Given the description of an element on the screen output the (x, y) to click on. 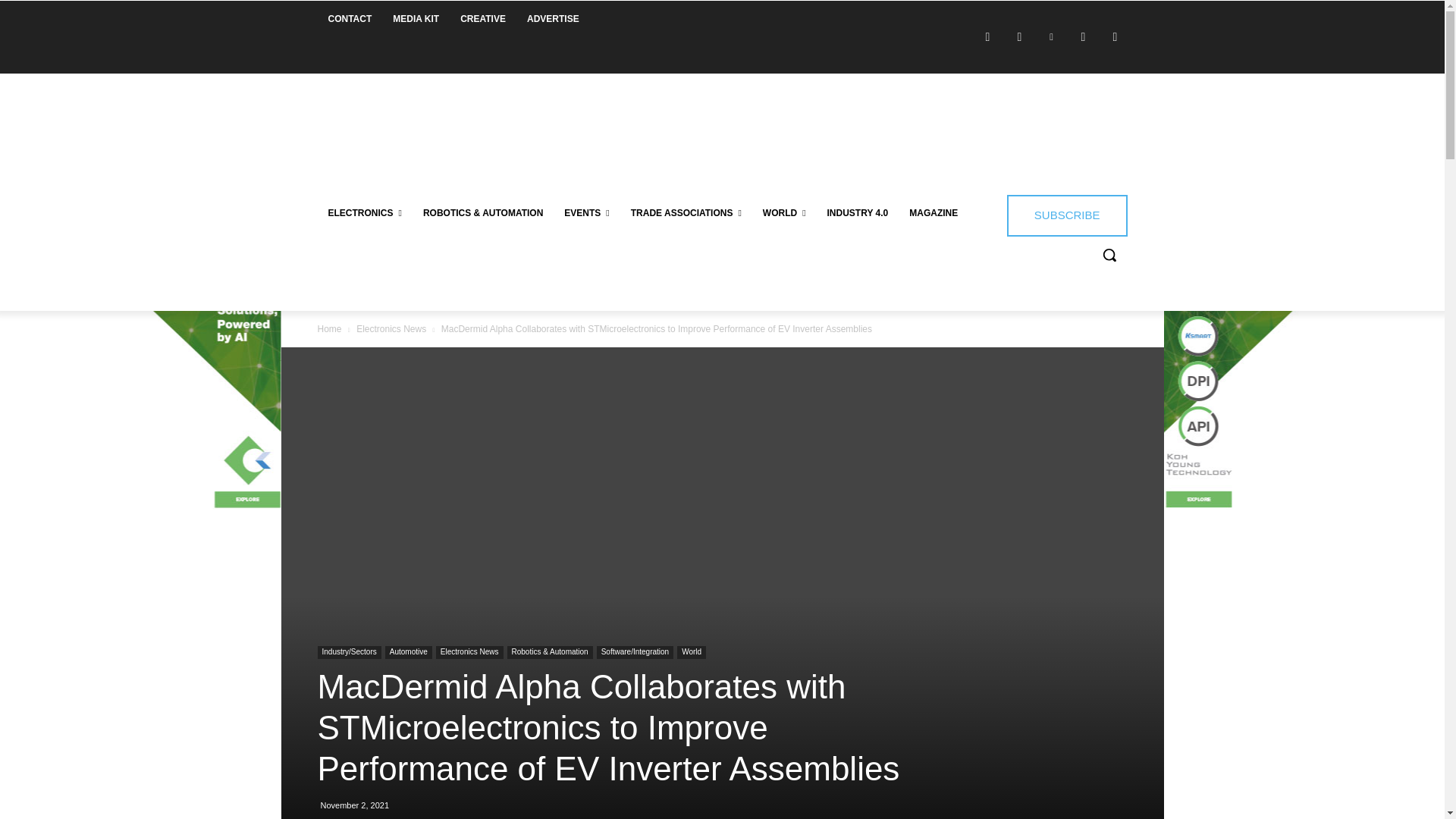
Linkedin (1050, 37)
Twitter (1082, 37)
SMT Today  Electronics Beyond Content (425, 123)
MEDIA KIT (415, 18)
CONTACT (349, 18)
Youtube (1114, 37)
SUBSCRIBE (1066, 215)
Facebook (986, 37)
Instagram (1018, 37)
CREATIVE (482, 18)
